Given the description of an element on the screen output the (x, y) to click on. 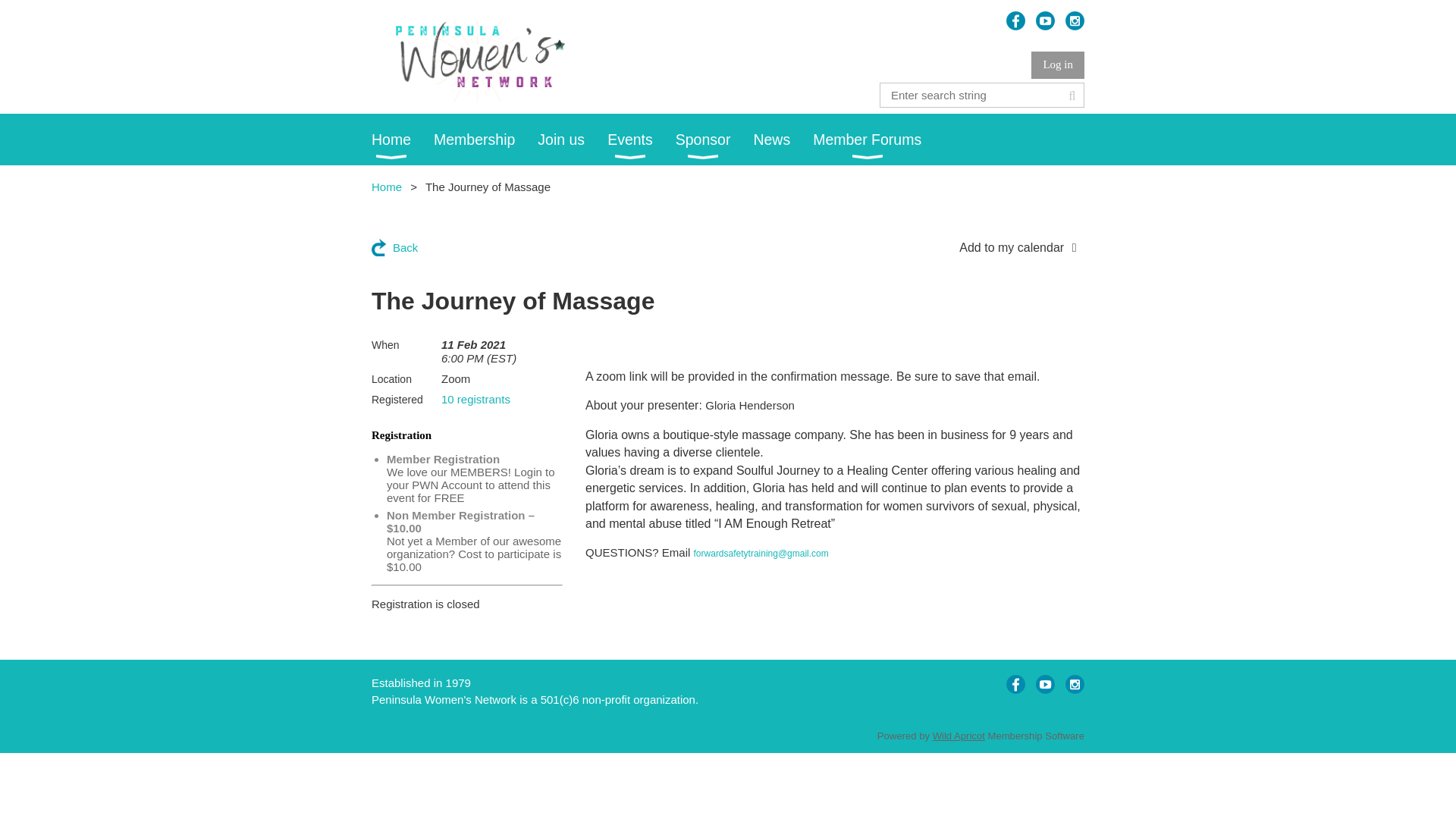
Events (641, 139)
Log in (1057, 64)
YouTube (1044, 20)
Home (402, 139)
Sponsor (714, 139)
Home (386, 186)
Membership (485, 139)
News (782, 139)
Membership (485, 139)
